Given the description of an element on the screen output the (x, y) to click on. 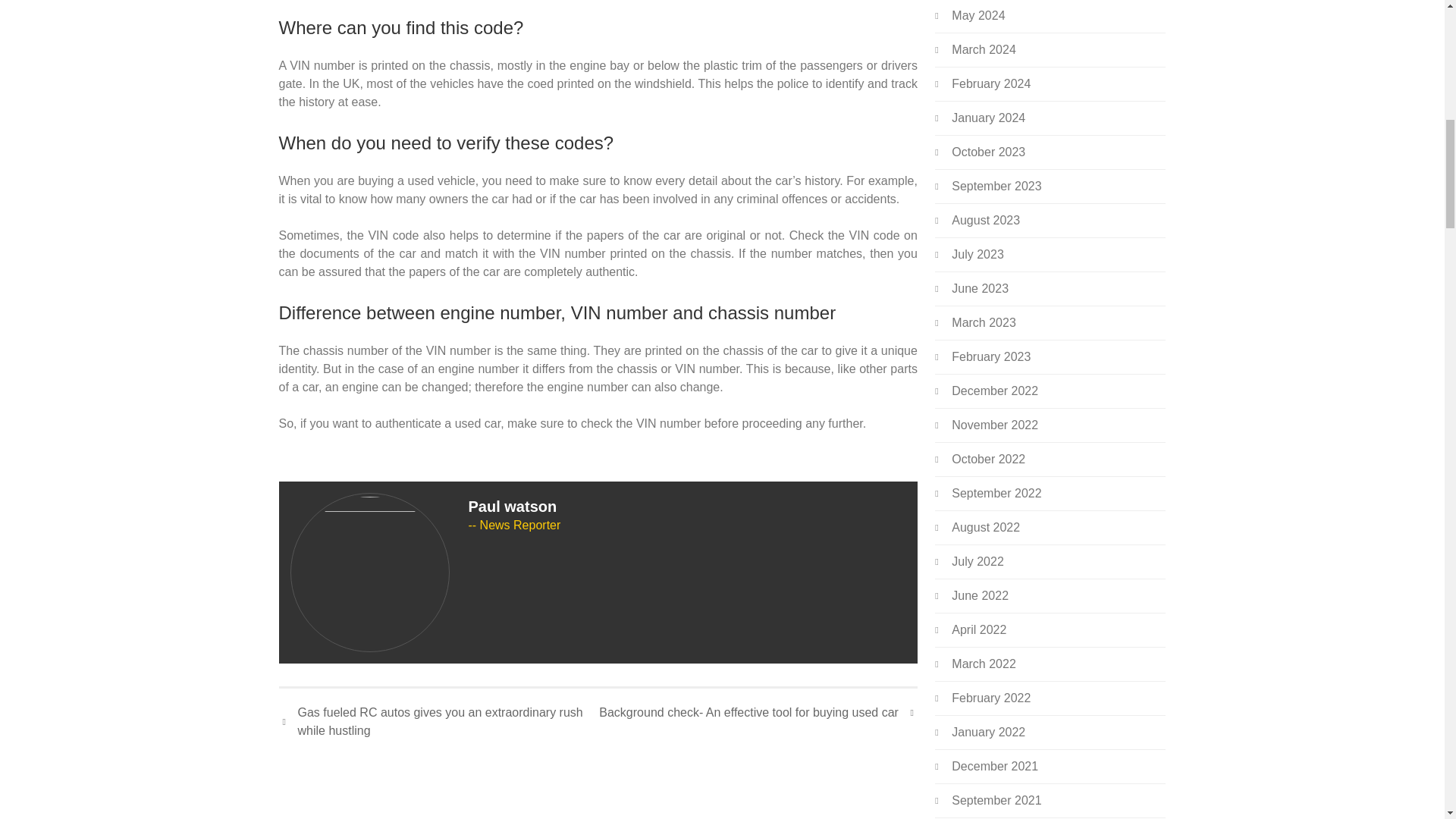
Paul watson (512, 506)
Posts by Paul watson (512, 506)
Background check- An effective tool for buying used car (757, 712)
